Given the description of an element on the screen output the (x, y) to click on. 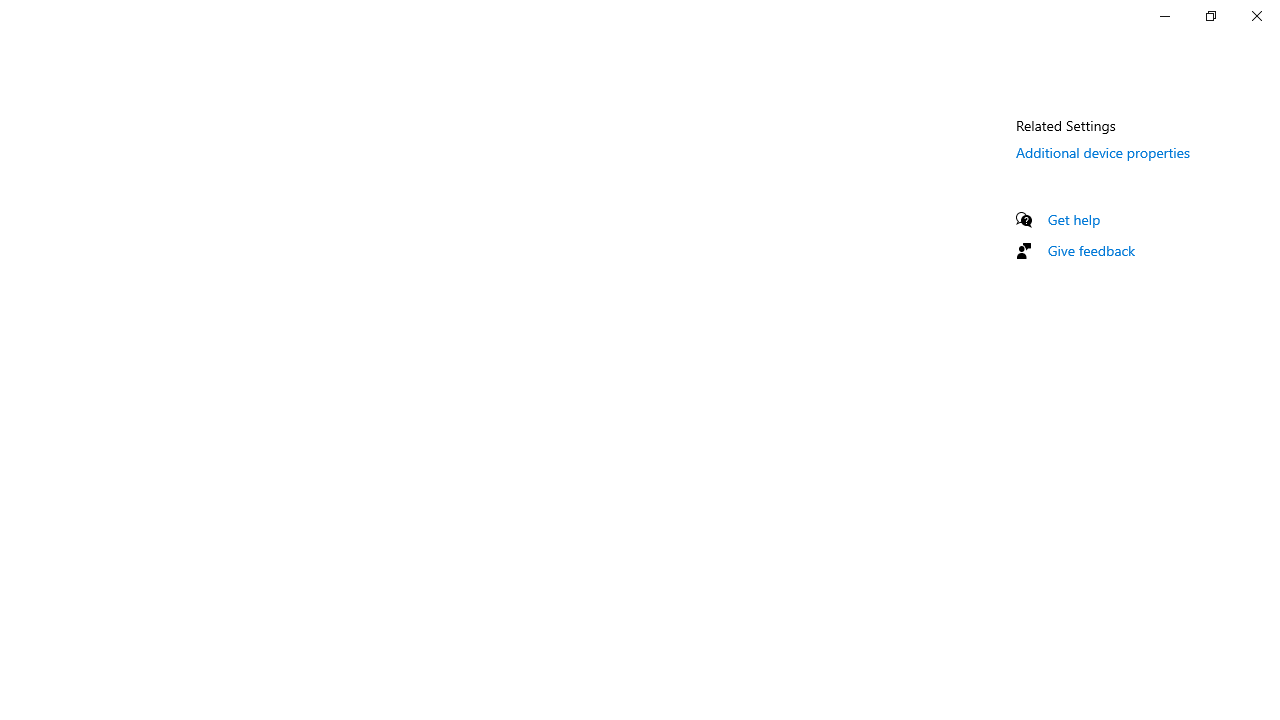
Give feedback (1091, 250)
Additional device properties (1103, 152)
